Given the description of an element on the screen output the (x, y) to click on. 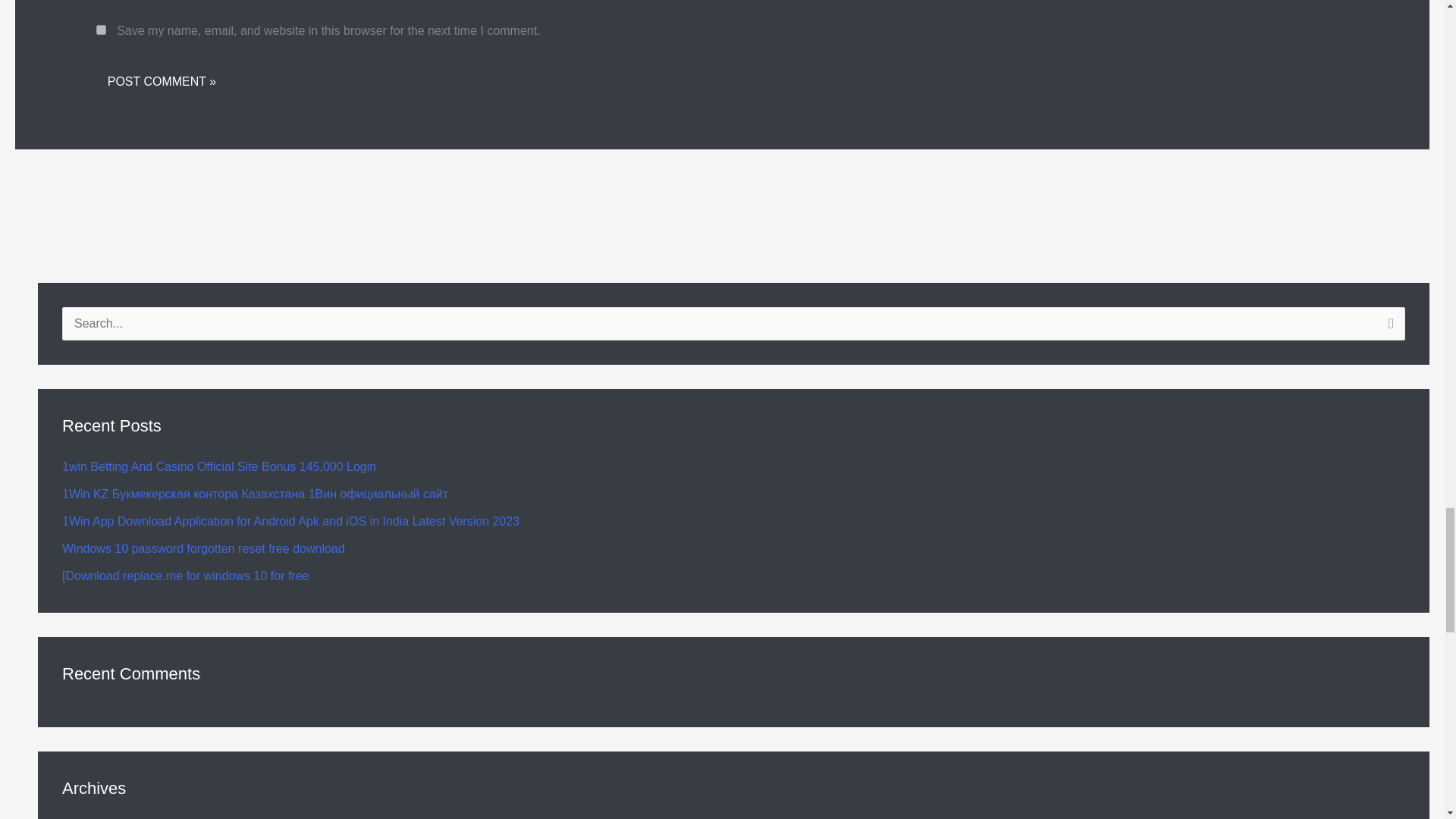
Search (1388, 328)
1win Betting And Casino Official Site Bonus 145,000 Login (218, 466)
Search (1388, 328)
Search (1388, 328)
Windows 10 password forgotten reset free download (203, 548)
yes (101, 30)
